Given the description of an element on the screen output the (x, y) to click on. 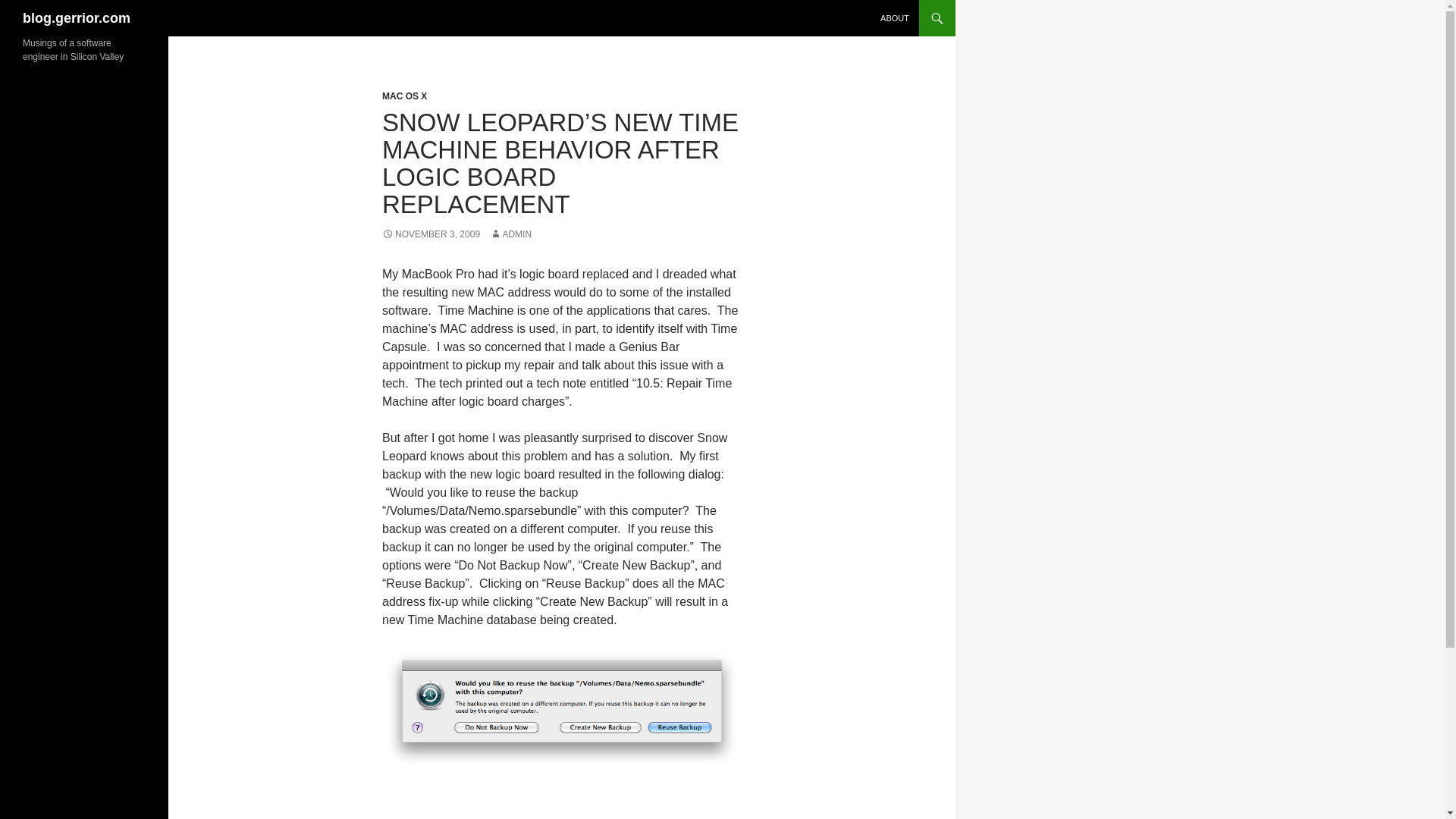
blog.gerrior.com (77, 18)
ADMIN (510, 234)
MAC OS X (403, 95)
NOVEMBER 3, 2009 (430, 234)
Reuse Backup Dialog (561, 708)
ABOUT (894, 18)
